Given the description of an element on the screen output the (x, y) to click on. 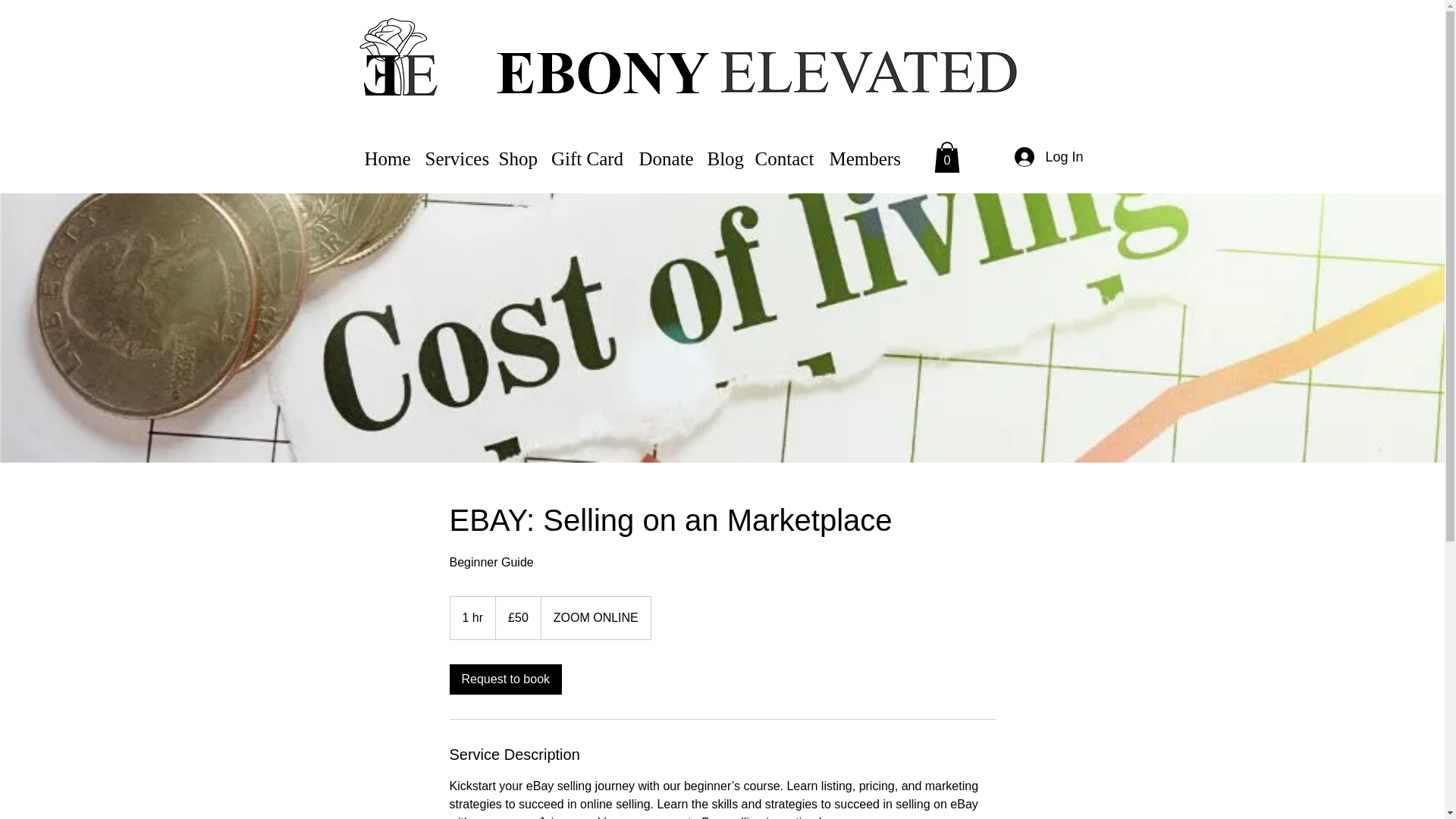
Home (386, 157)
Contact (785, 157)
Donate (664, 157)
Blog (722, 157)
Shop (517, 157)
Request to book (505, 679)
Services (453, 157)
Gift Card (586, 157)
Log In (1048, 157)
SMALL LOGO EBONY.png (397, 57)
